Given the description of an element on the screen output the (x, y) to click on. 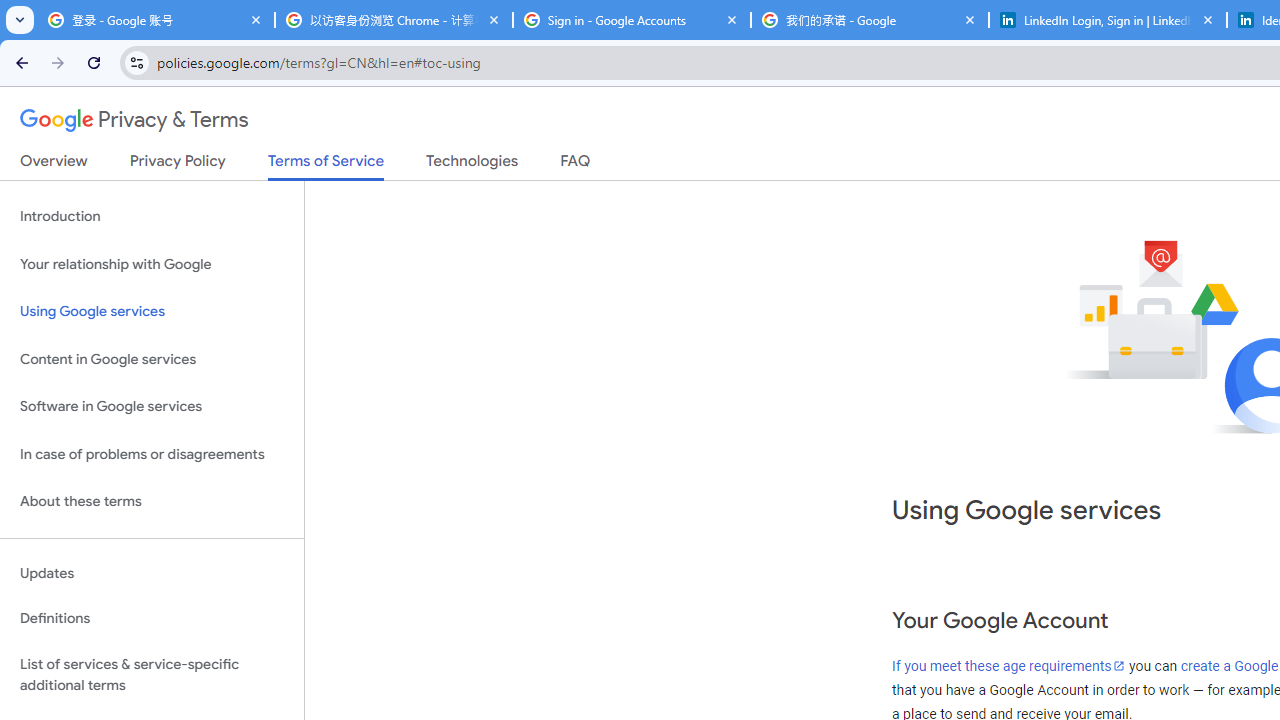
Updates (152, 573)
Definitions (152, 619)
LinkedIn Login, Sign in | LinkedIn (1108, 20)
In case of problems or disagreements (152, 453)
Content in Google services (152, 358)
List of services & service-specific additional terms (152, 674)
FAQ (575, 165)
Sign in - Google Accounts (632, 20)
Privacy & Terms (134, 120)
About these terms (152, 502)
